Given the description of an element on the screen output the (x, y) to click on. 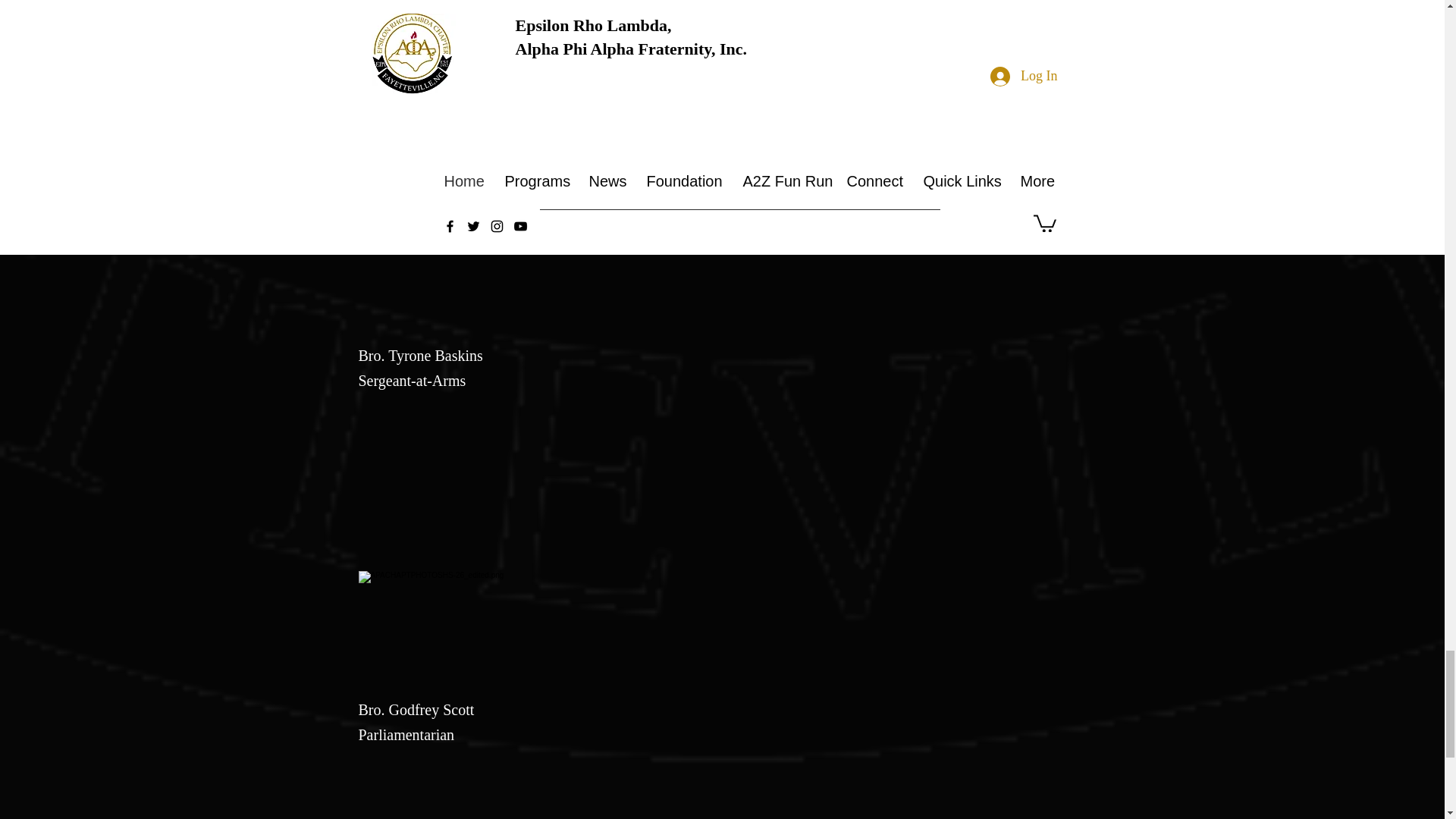
Bro. Chisholm.jpg (481, 324)
